Given the description of an element on the screen output the (x, y) to click on. 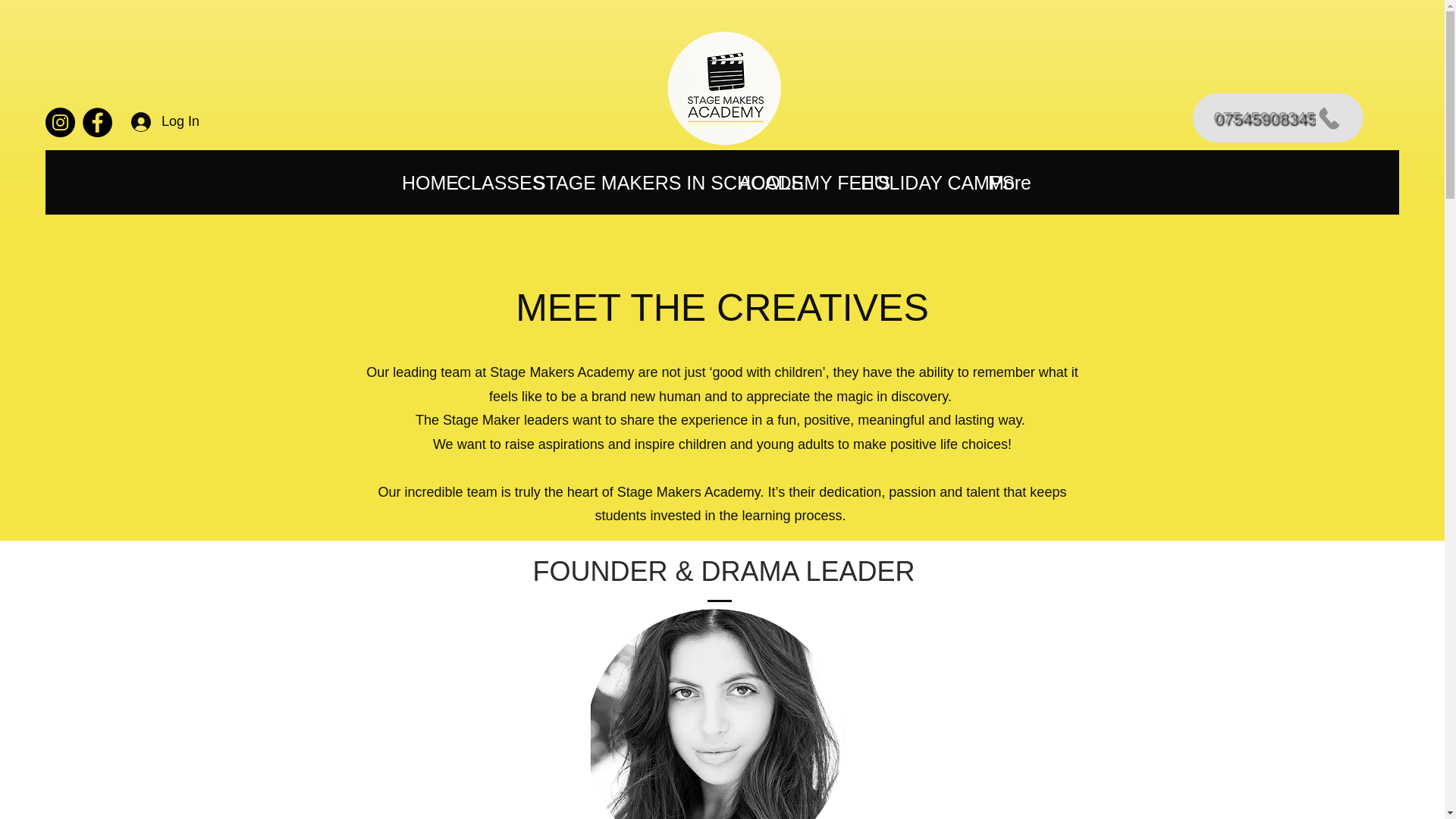
STAGE MAKERS IN SCHOOLS (627, 182)
CLASSES (487, 182)
ACADEMY FEE'S (791, 182)
guy2.jpg (714, 714)
07545908345 (1277, 117)
Log In (150, 121)
HOLIDAY CAMPS (916, 182)
HOME (421, 182)
